Given the description of an element on the screen output the (x, y) to click on. 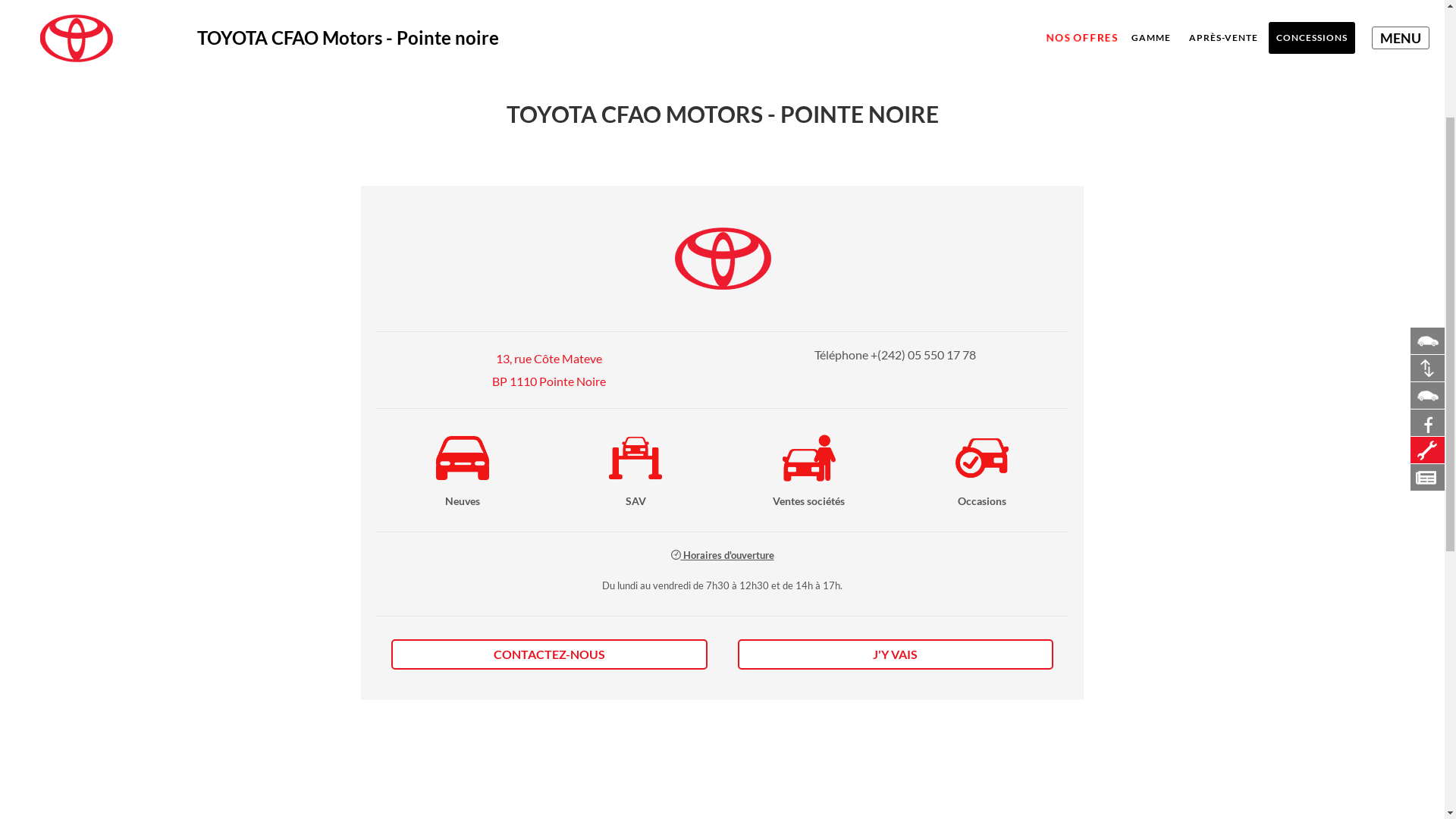
SAV Element type: hover (635, 659)
GAMME Element type: text (1150, 239)
TOYOTA CFAO MOTORS - BRAZZAVILLE Element type: text (234, 239)
Concessions Element type: text (1044, 90)
TOYOTA CFAO MOTORS - POINTE NOIRE Element type: text (559, 239)
NOS OFFRES Element type: text (1075, 237)
Neuves Element type: hover (462, 659)
Occasions Element type: hover (981, 659)
+(242) 05 550 17 78 Element type: text (922, 556)
CONCESSIONS Element type: text (1311, 239)
